Given the description of an element on the screen output the (x, y) to click on. 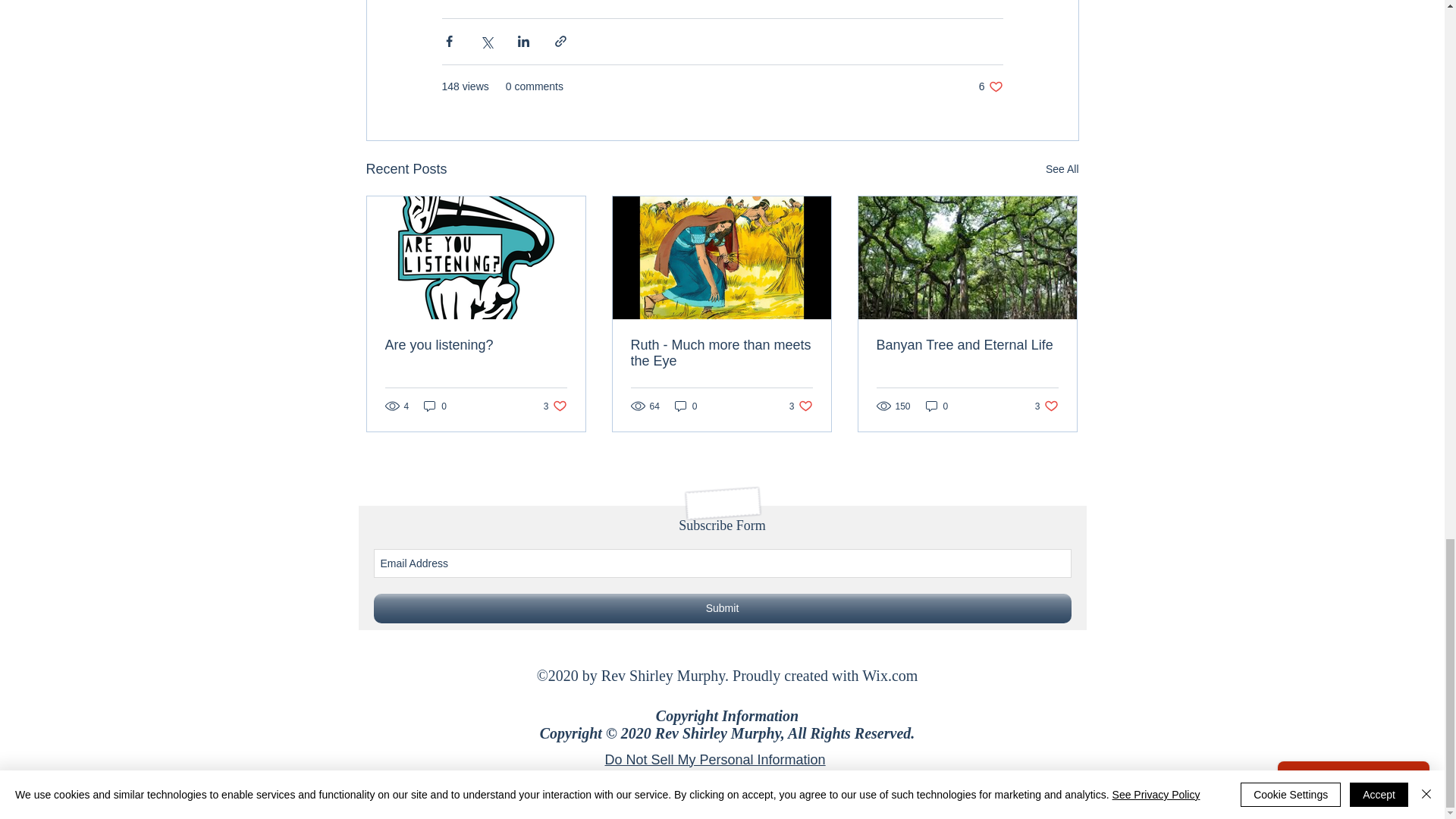
See All (1061, 169)
0 (685, 405)
Are you listening? (990, 86)
Banyan Tree and Eternal Life (555, 405)
0 (800, 405)
Ruth - Much more than meets the Eye (476, 344)
0 (967, 344)
